Given the description of an element on the screen output the (x, y) to click on. 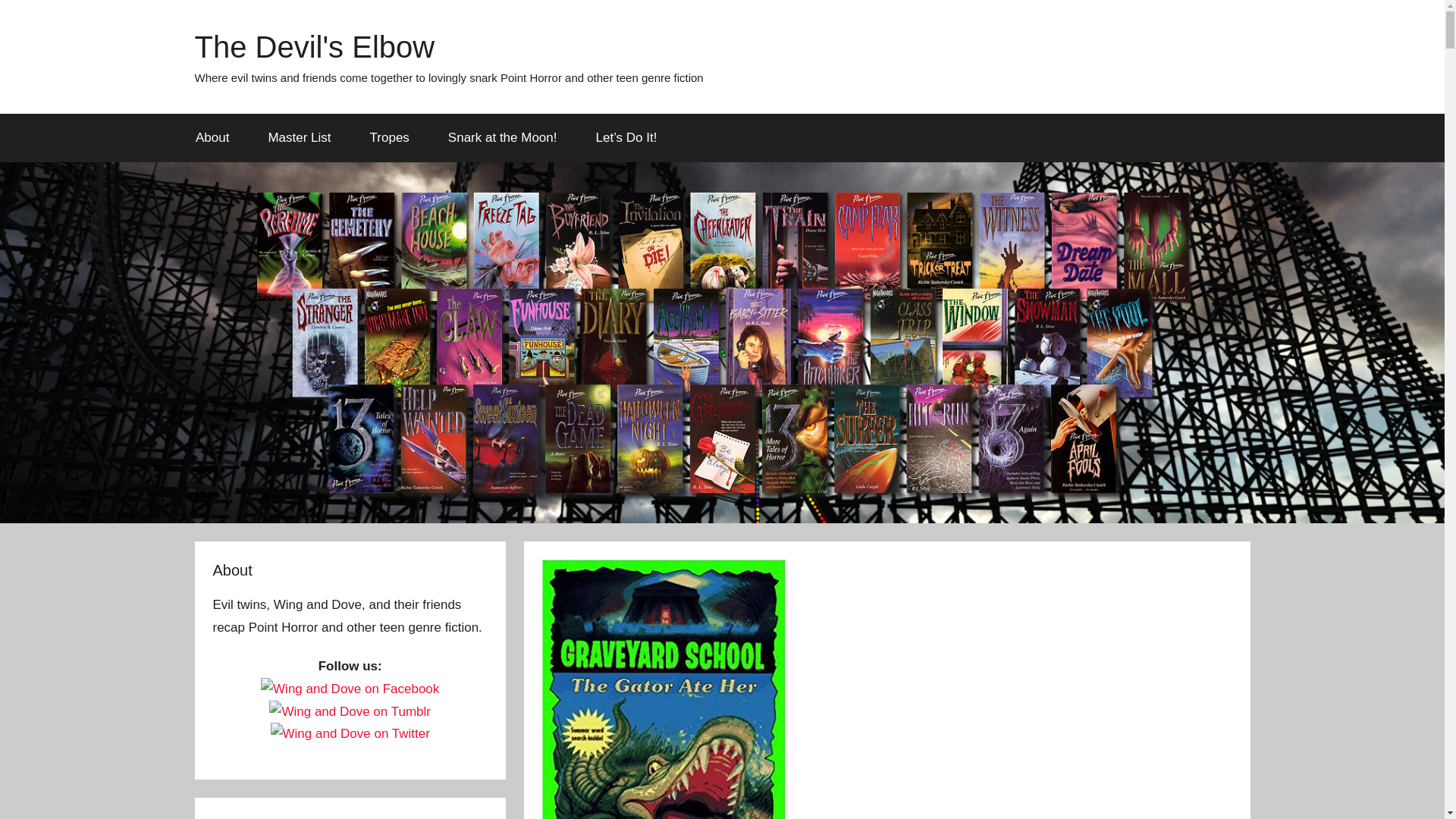
Snark at the Moon! (502, 137)
Wing and Dove on Twitter (349, 733)
About (211, 137)
Wing and Dove on Facebook (349, 689)
Master List (299, 137)
The Devil's Elbow (313, 46)
Wing and Dove on Tumblr (349, 712)
Tropes (389, 137)
